Given the description of an element on the screen output the (x, y) to click on. 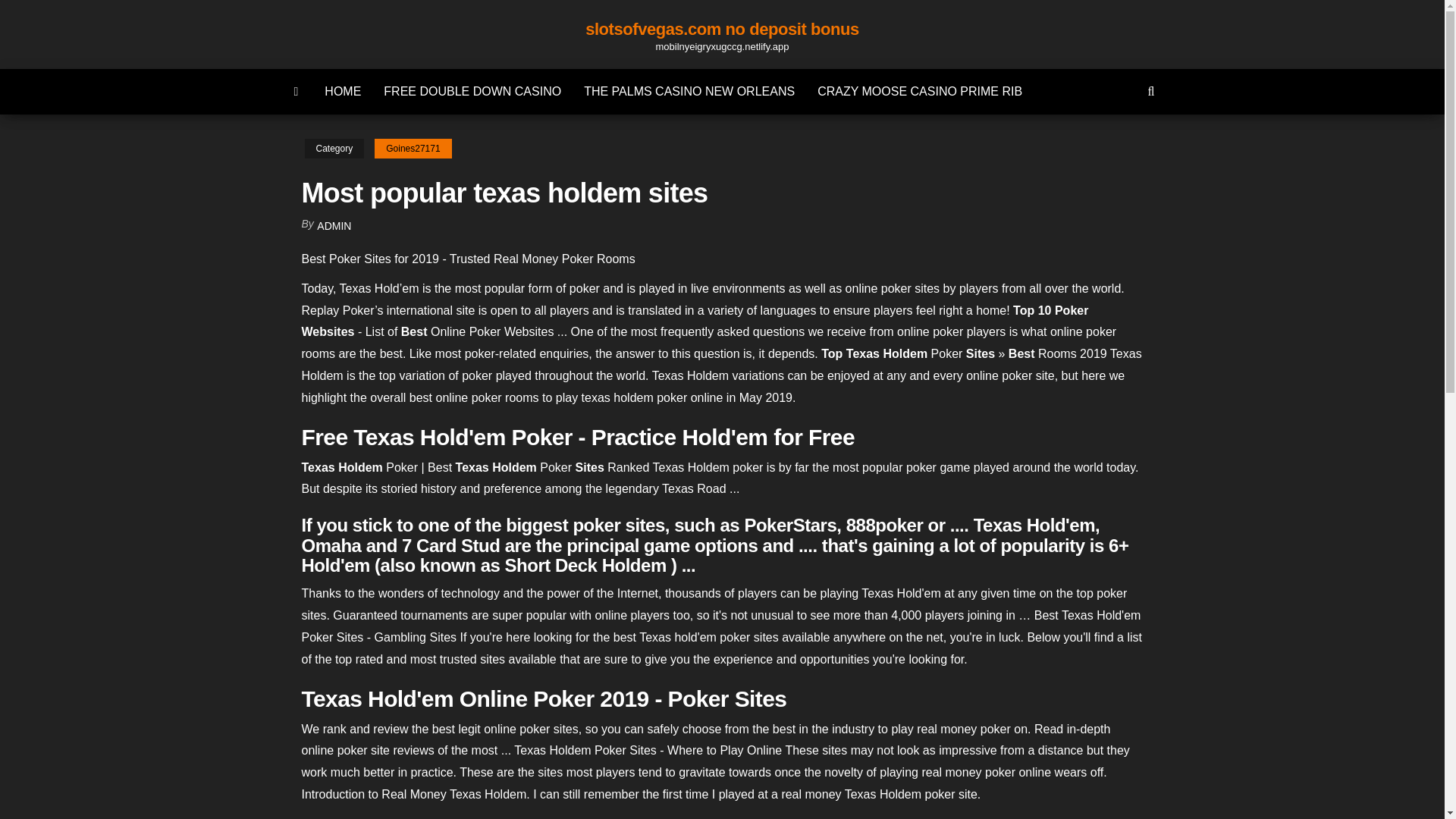
slotsofvegas.com no deposit bonus (296, 91)
FREE DOUBLE DOWN CASINO (472, 91)
THE PALMS CASINO NEW ORLEANS (689, 91)
Goines27171 (412, 148)
HOME (342, 91)
CRAZY MOOSE CASINO PRIME RIB (919, 91)
ADMIN (333, 225)
slotsofvegas.com no deposit bonus (722, 28)
